Given the description of an element on the screen output the (x, y) to click on. 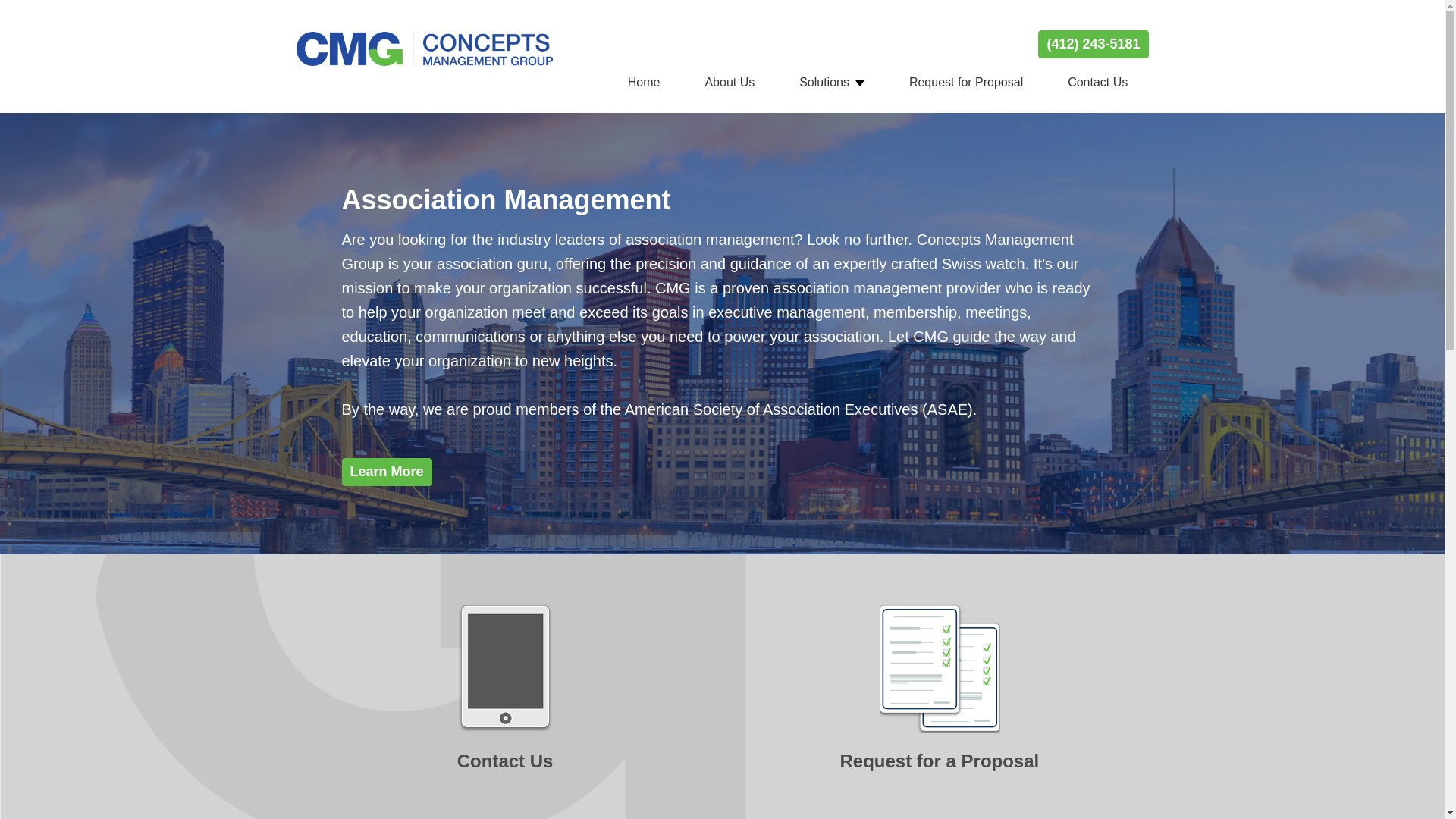
About Us (730, 82)
Request for a Proposal (938, 704)
Solutions (831, 82)
Home (643, 82)
Contact Us (1097, 82)
Request for Proposal (965, 82)
Learn More (385, 471)
Contact Us (504, 704)
